Given the description of an element on the screen output the (x, y) to click on. 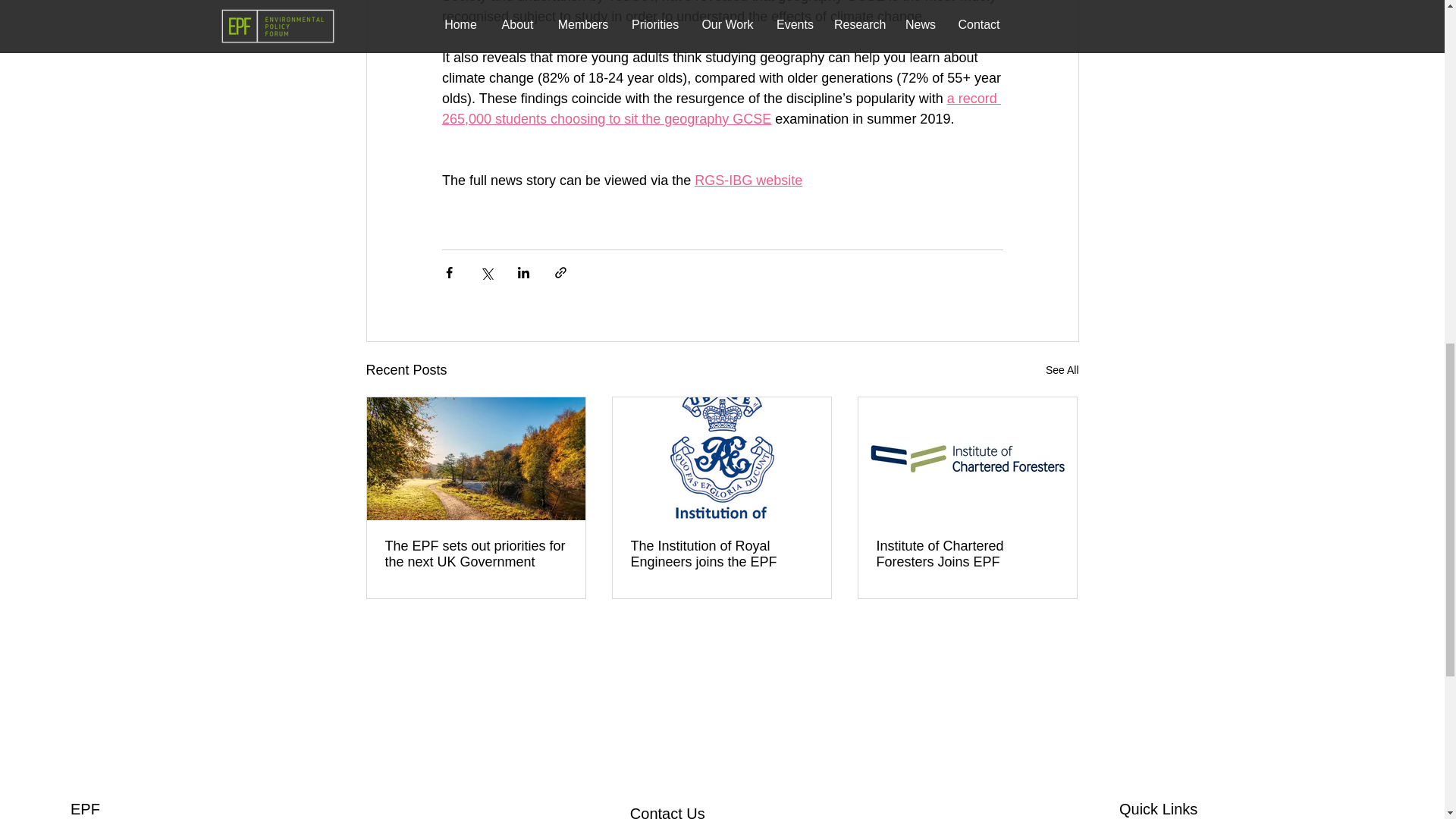
RGS-IBG website (748, 180)
Institute of Chartered Foresters Joins EPF (967, 554)
The Institution of Royal Engineers joins the EPF (721, 554)
a record 265,000 students choosing to sit the geography GCSE (720, 108)
The EPF sets out priorities for the next UK Government (476, 554)
See All (1061, 370)
